Given the description of an element on the screen output the (x, y) to click on. 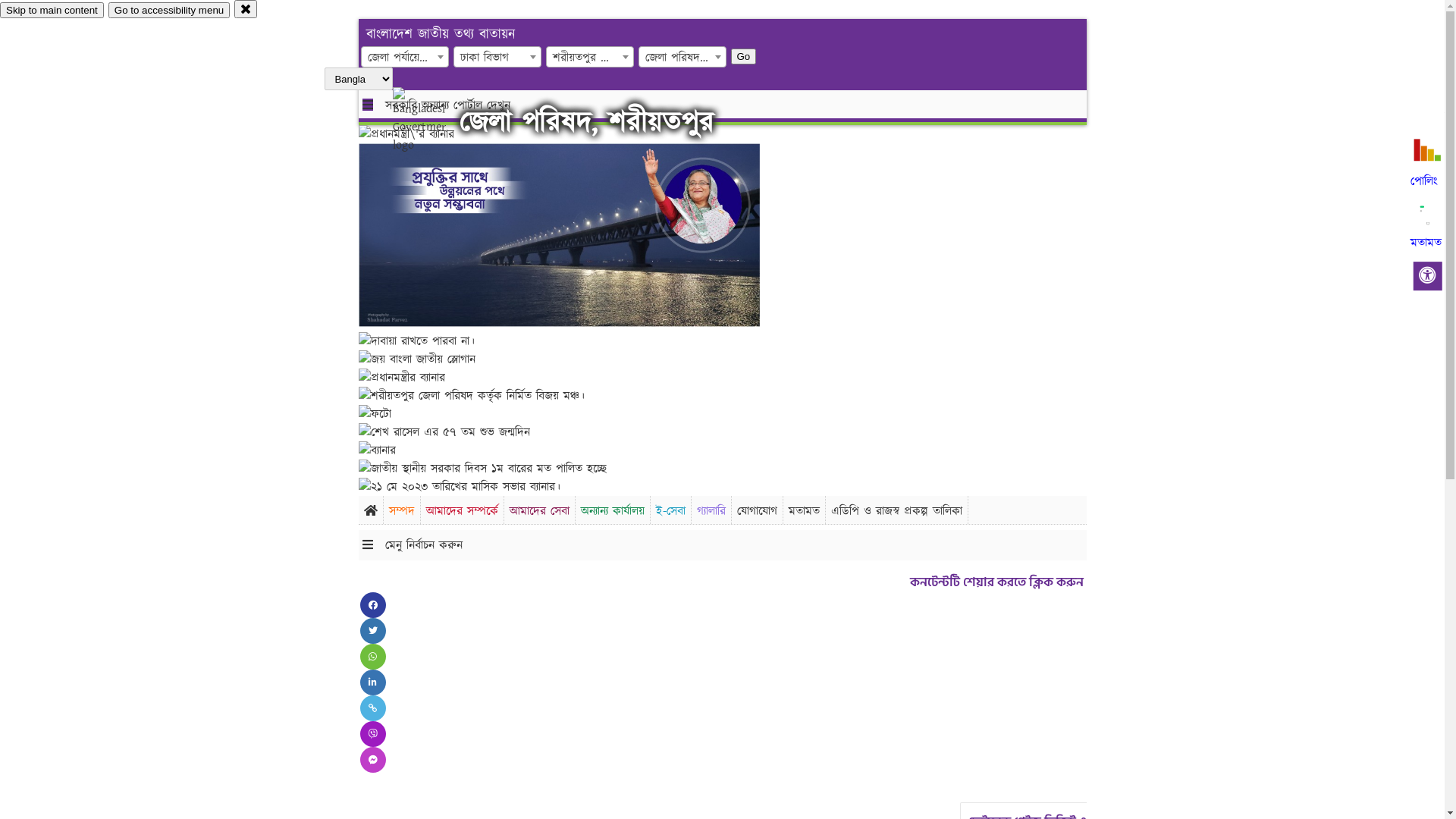

                
             Element type: hover (431, 120)
close Element type: hover (245, 9)
Skip to main content Element type: text (51, 10)
Go Element type: text (651, 56)
Go to accessibility menu Element type: text (168, 10)
